Given the description of an element on the screen output the (x, y) to click on. 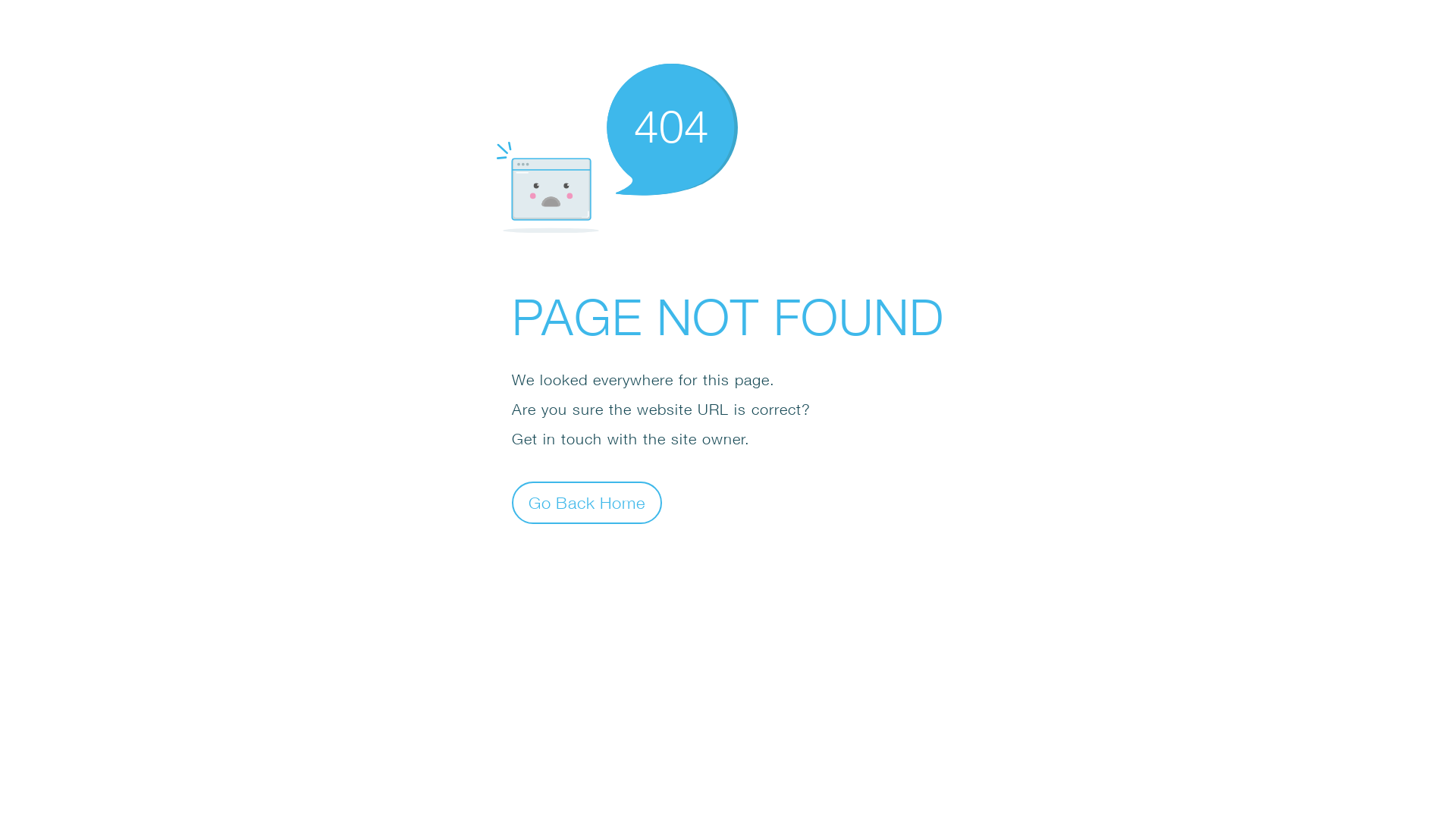
Go Back Home Element type: text (586, 502)
